Given the description of an element on the screen output the (x, y) to click on. 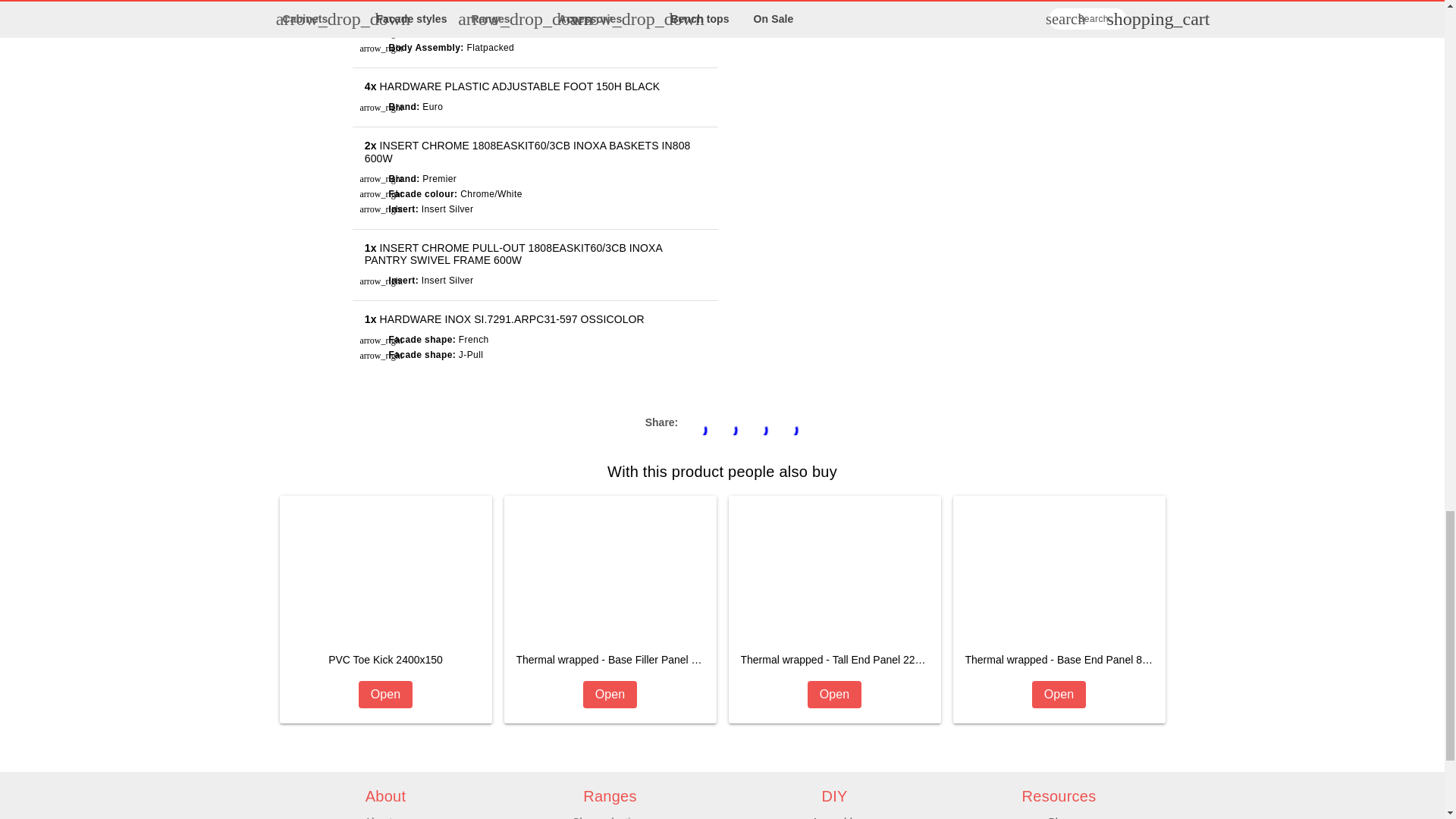
Share with friends on Facebook (726, 422)
Share with a friend via an email (786, 422)
Share with followers on Twitter (695, 422)
About us (385, 817)
About us (385, 817)
Shop selections (385, 609)
View our show selections made by customers and staff (609, 817)
Add to your board on Pinterest (609, 817)
